Given the description of an element on the screen output the (x, y) to click on. 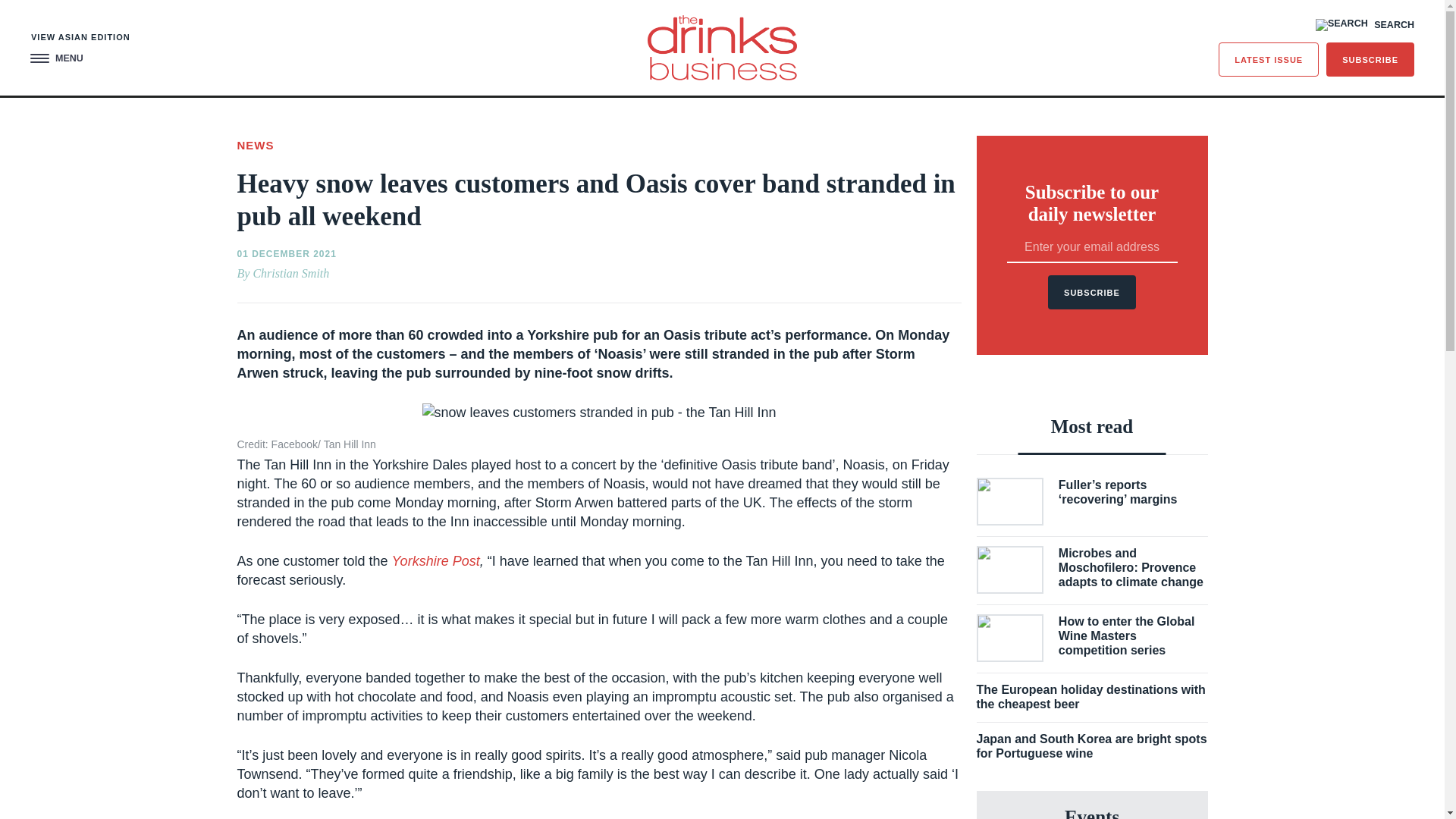
SEARCH (1364, 24)
MENU (56, 58)
LATEST ISSUE (1268, 59)
VIEW ASIAN EDITION (80, 37)
SUBSCRIBE (1369, 59)
The Drinks Business (721, 47)
